Given the description of an element on the screen output the (x, y) to click on. 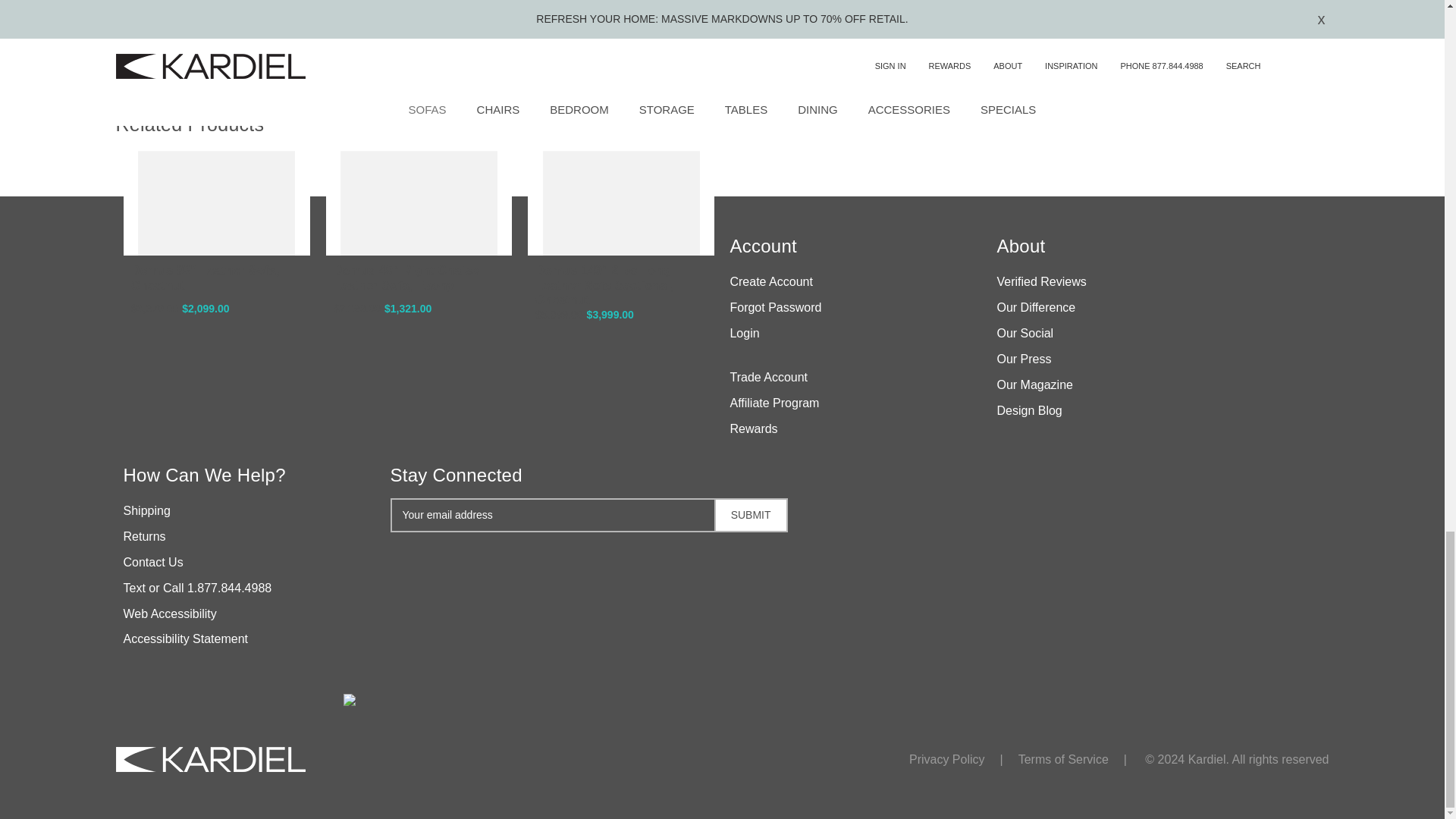
Submit (750, 514)
